Given the description of an element on the screen output the (x, y) to click on. 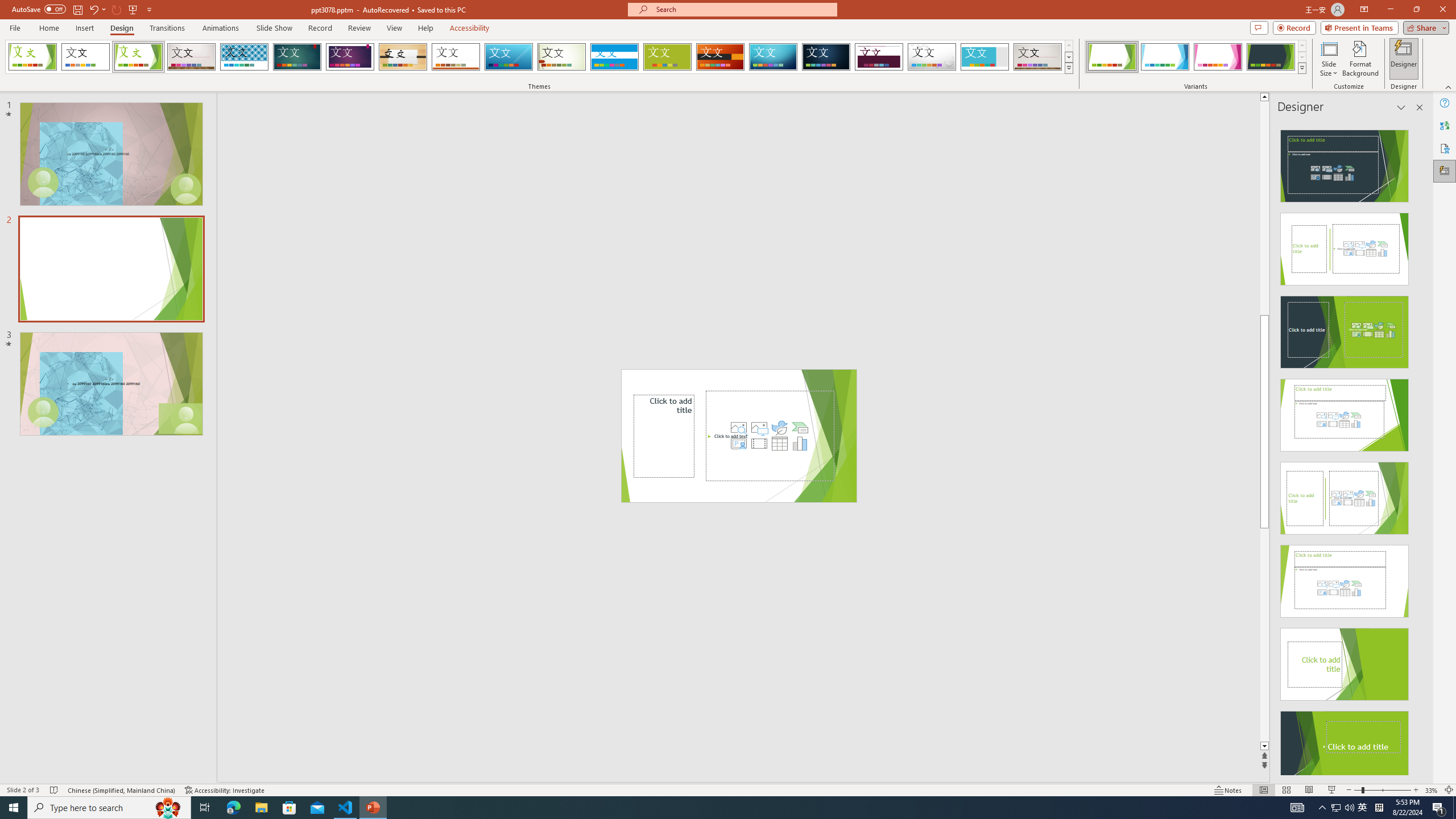
Page up (1264, 207)
Insert an Icon (779, 427)
Stock Images (738, 427)
Slice (508, 56)
Organic (403, 56)
Format Background (1360, 58)
Title TextBox (663, 435)
Integral (244, 56)
Ion (296, 56)
